Given the description of an element on the screen output the (x, y) to click on. 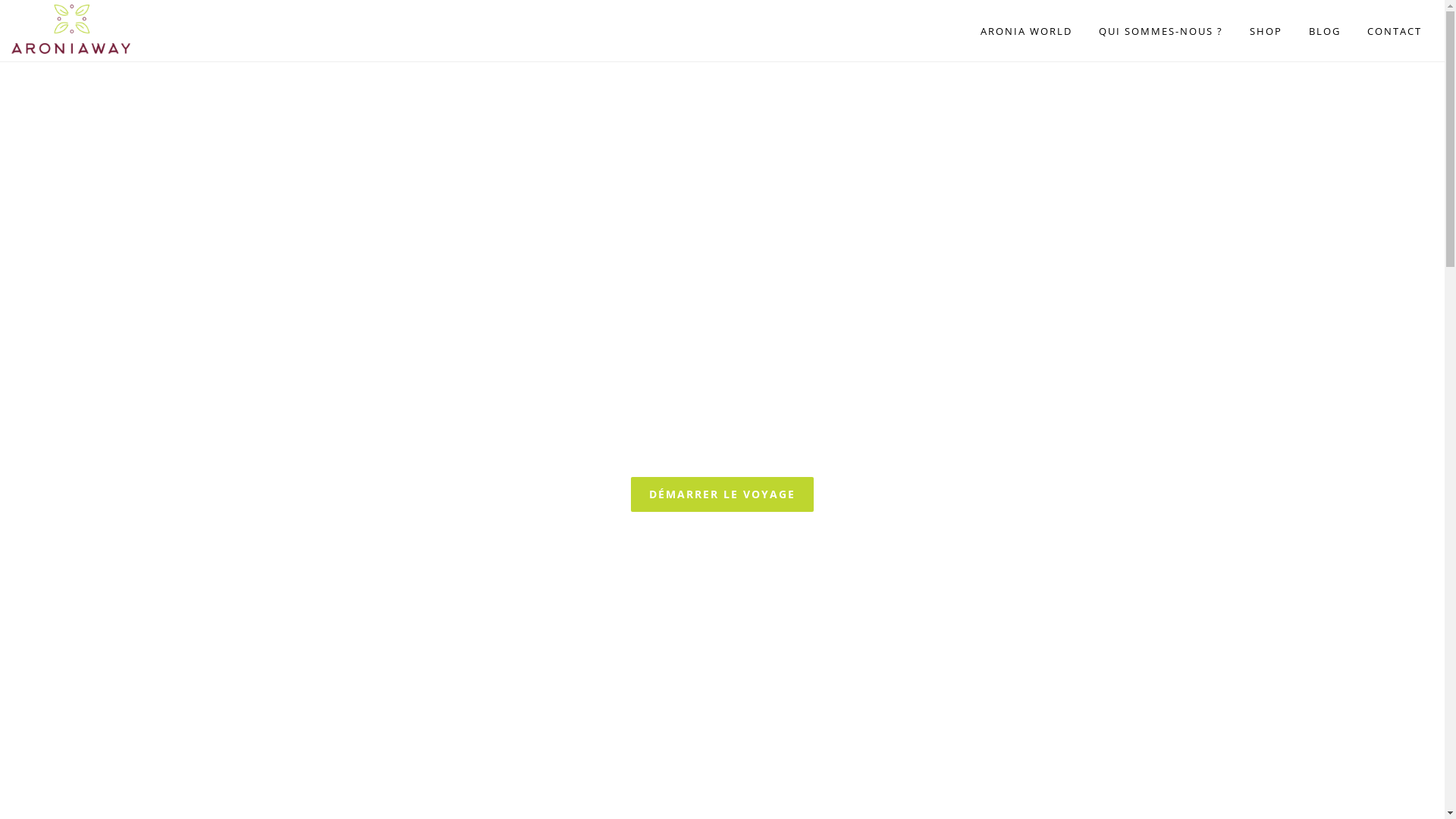
BLOG Element type: text (1324, 31)
Skip to primary navigation Element type: text (0, 0)
ARONIA WORLD Element type: text (1026, 31)
SHOP Element type: text (1265, 31)
ARONIAWAY Element type: text (87, 28)
QUI SOMMES-NOUS ? Element type: text (1160, 31)
CONTACT Element type: text (1394, 31)
